Given the description of an element on the screen output the (x, y) to click on. 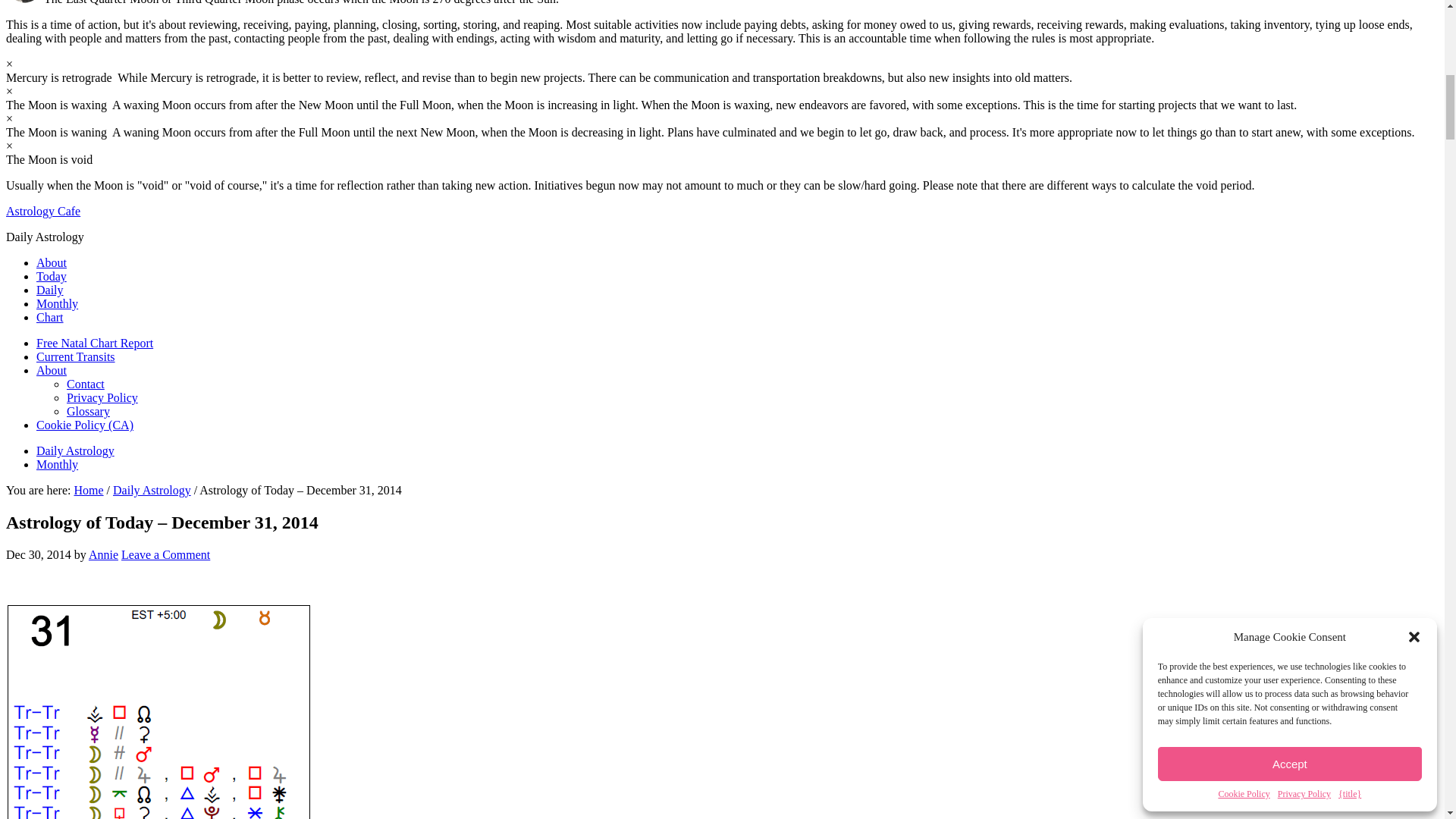
Daily Astrology (75, 450)
Contact (85, 383)
Chart (50, 317)
Monthly (57, 463)
Daily (50, 289)
Privacy Policy (102, 397)
About (51, 262)
Current Transits (75, 356)
Monthly (57, 303)
About (51, 369)
Astrology Cafe (42, 210)
Free Natal Chart Report (94, 342)
Home (88, 490)
Leave a Comment (164, 554)
Today (51, 276)
